Given the description of an element on the screen output the (x, y) to click on. 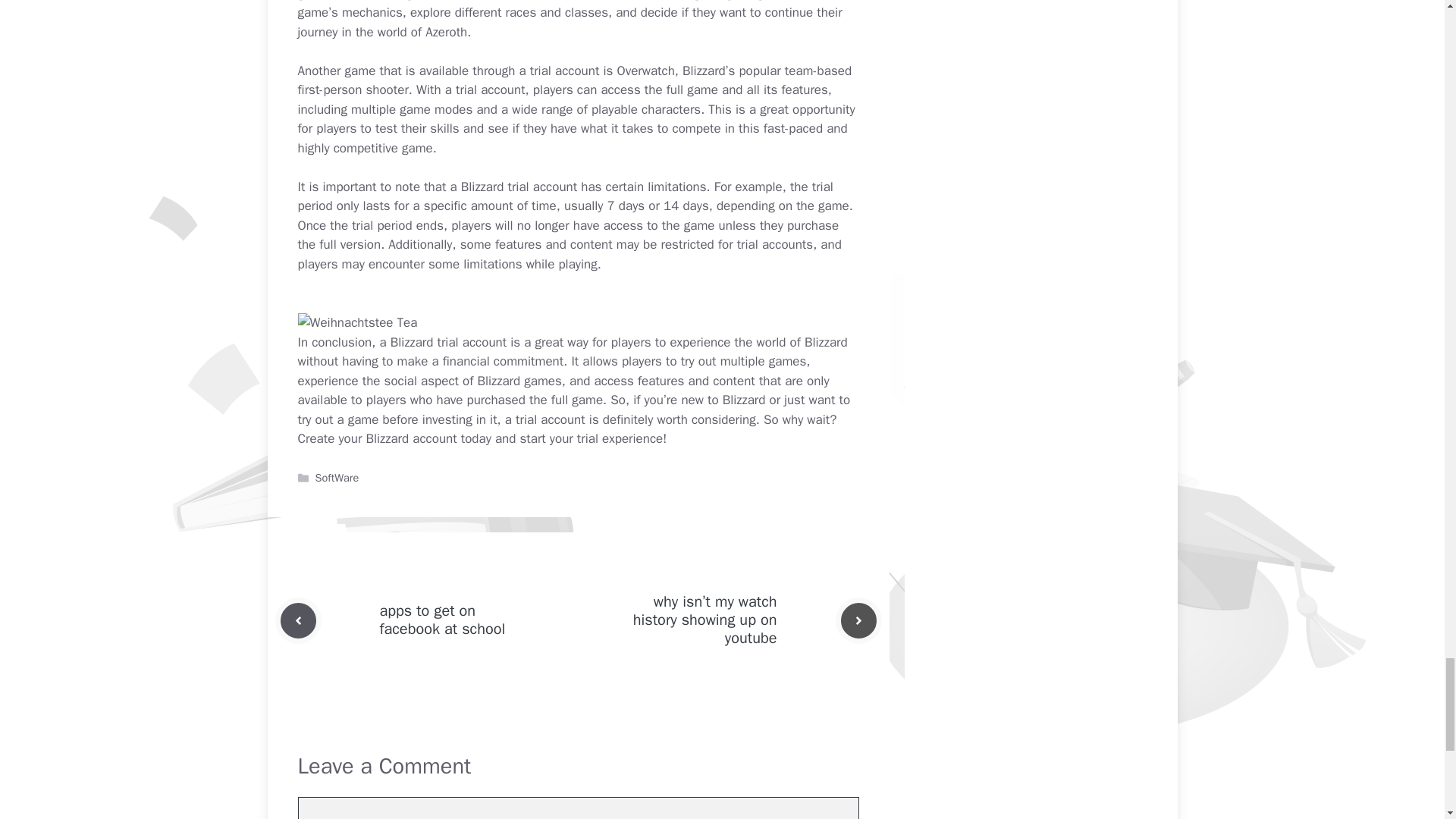
apps to get on facebook at school (441, 619)
SoftWare (337, 477)
Weihnachtstee Tea (356, 322)
